Given the description of an element on the screen output the (x, y) to click on. 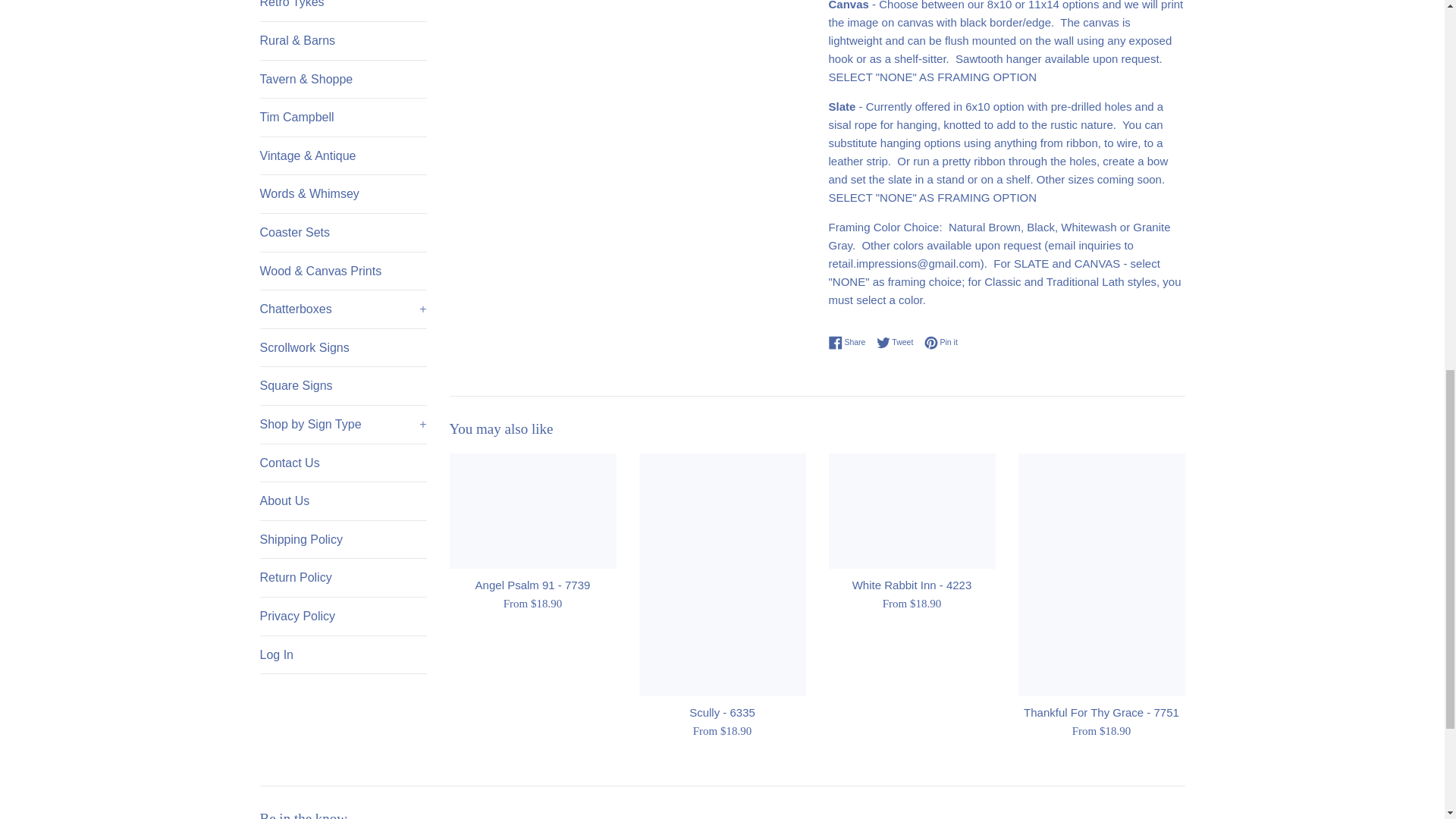
Share on Facebook (850, 342)
Tim Campbell (342, 117)
White Rabbit Inn - 4223 (911, 510)
Angel Psalm 91 - 7739 (531, 510)
Coaster Sets (342, 232)
Tweet on Twitter (898, 342)
Pin on Pinterest (941, 342)
Retro Tykes (342, 10)
